Given the description of an element on the screen output the (x, y) to click on. 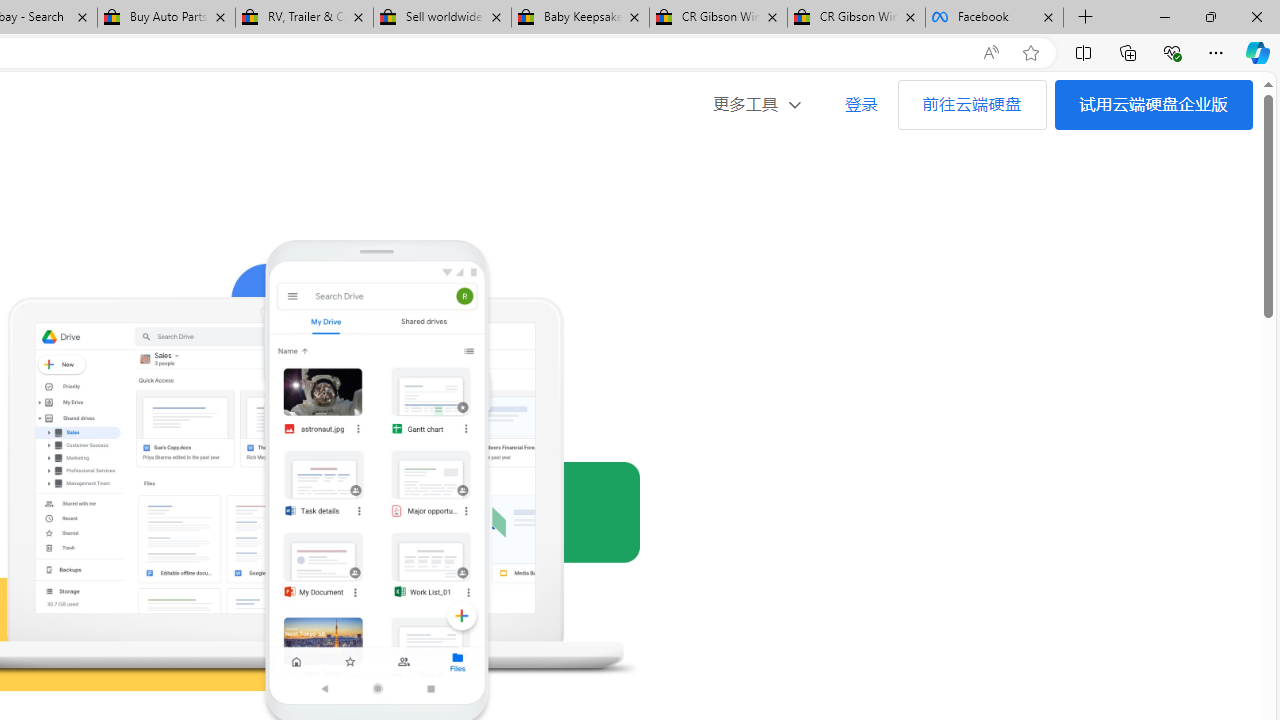
Buy Auto Parts & Accessories | eBay (166, 17)
Sell worldwide with eBay (441, 17)
Facebook (994, 17)
